Given the description of an element on the screen output the (x, y) to click on. 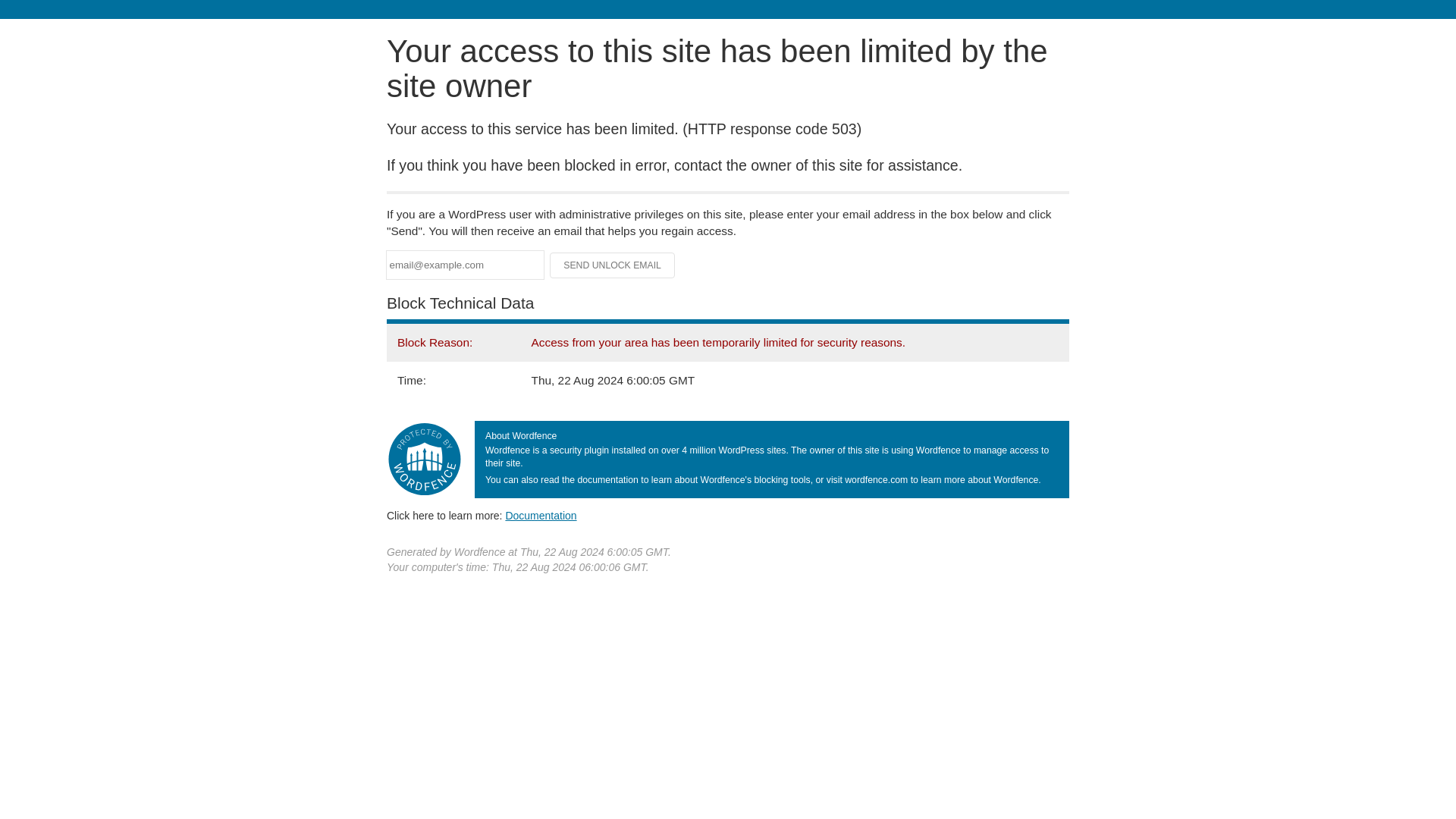
Send Unlock Email (612, 265)
Send Unlock Email (612, 265)
Documentation (540, 515)
